Given the description of an element on the screen output the (x, y) to click on. 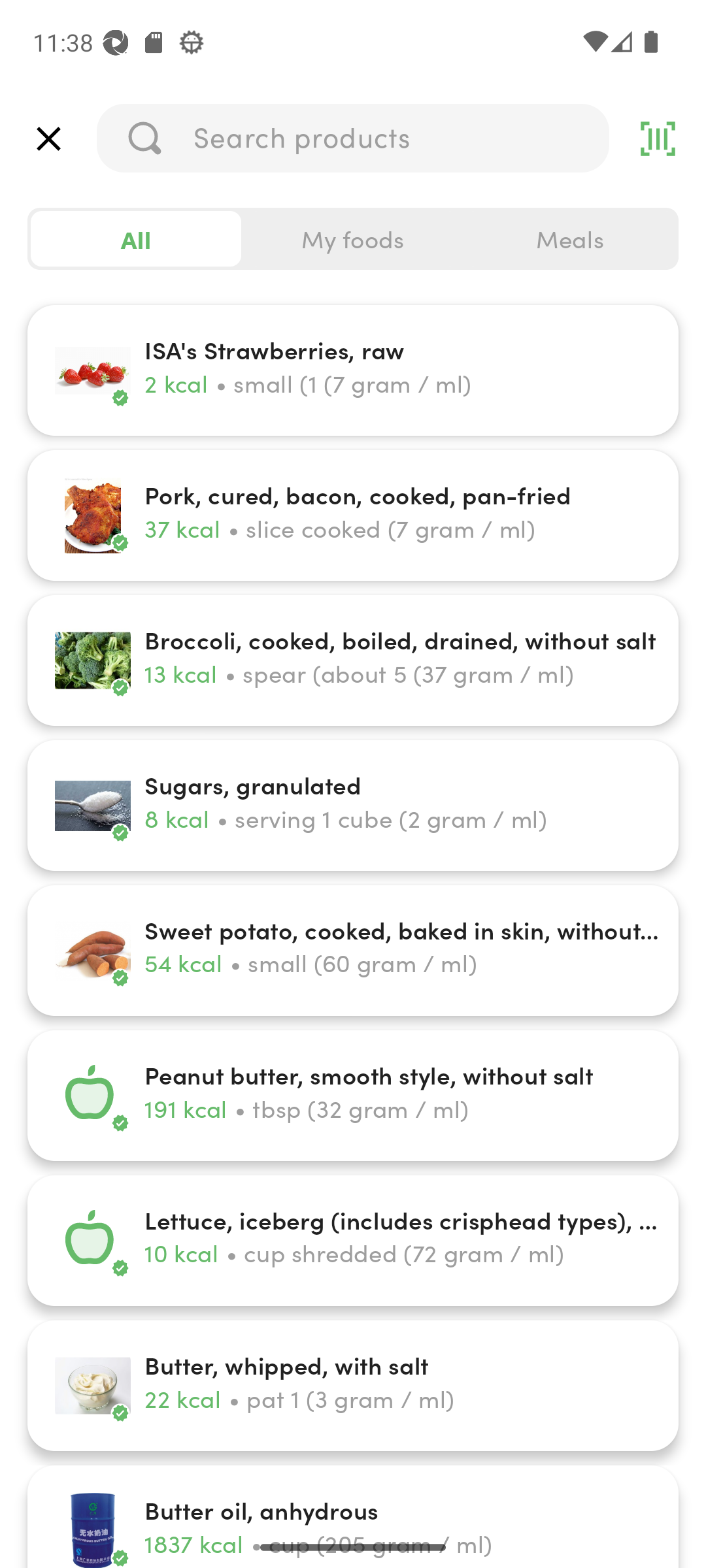
top_left_action (48, 138)
top_right_action (658, 138)
My foods (352, 238)
Meals (569, 238)
